Given the description of an element on the screen output the (x, y) to click on. 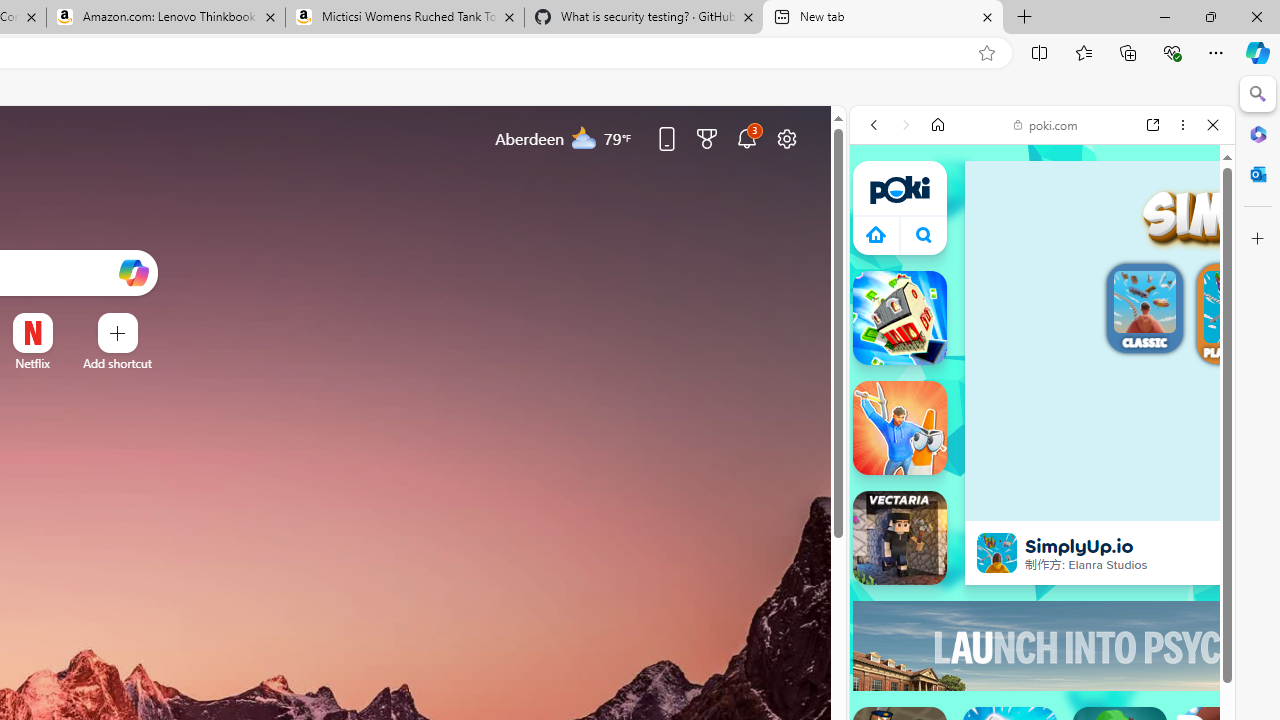
SimplyUp.io (996, 552)
Class: B_5ykBA46kDOxiz_R9wm (923, 234)
Page settings (786, 138)
Show More Io Games (1164, 652)
Poki (1034, 322)
Show More Shooting Games (1164, 555)
